Given the description of an element on the screen output the (x, y) to click on. 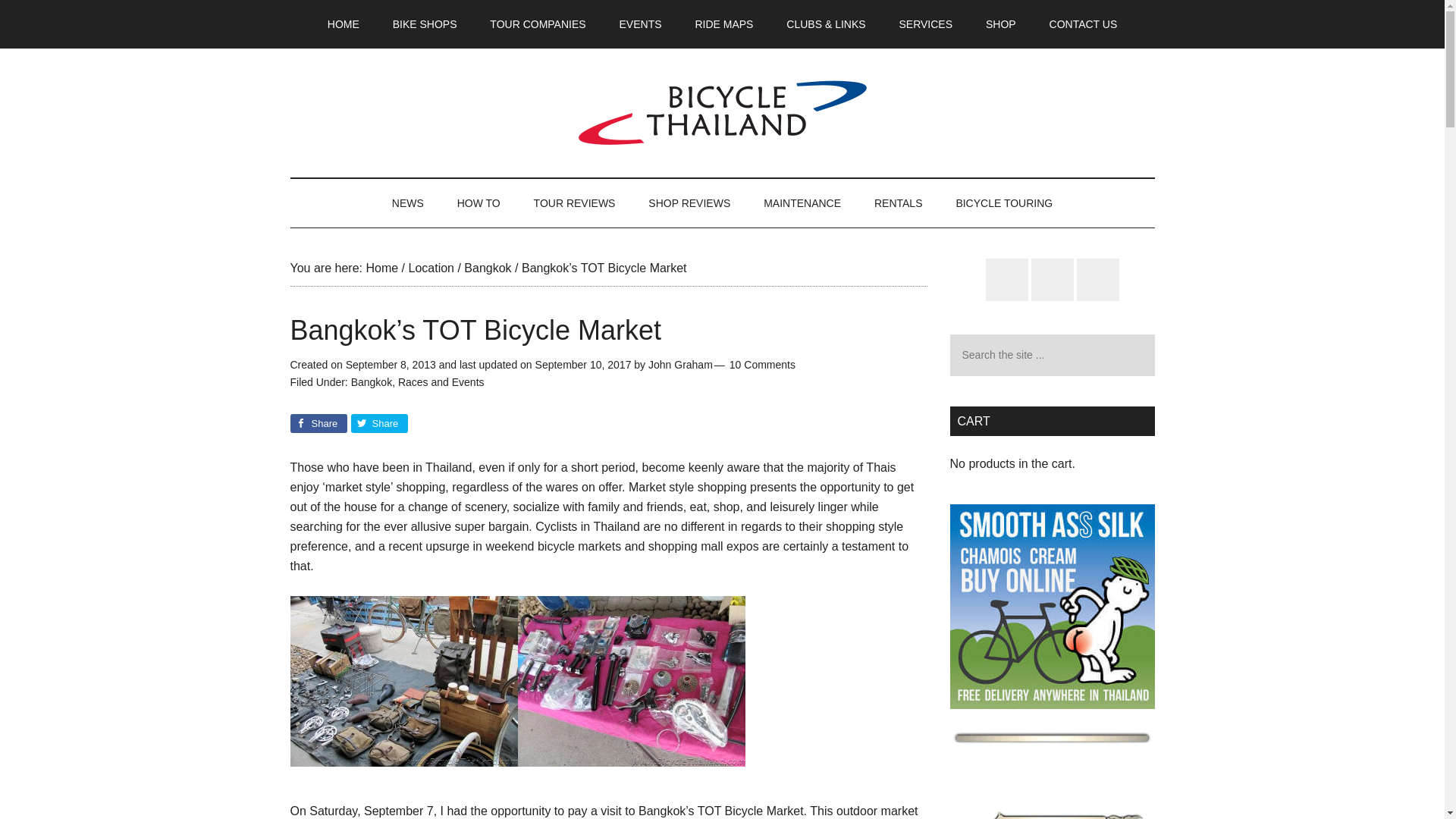
TOUR COMPANIES (536, 24)
Professional Bicycle Services Available in Thailand (925, 24)
SERVICES (925, 24)
Bangkok (370, 381)
BICYCLE TOURING (1003, 203)
SHOP (1000, 24)
Races and Events (440, 381)
HOW TO (478, 203)
TOUR REVIEWS (574, 203)
EVENTS (640, 24)
BIKE SHOPS (424, 24)
10 Comments (761, 364)
